Given the description of an element on the screen output the (x, y) to click on. 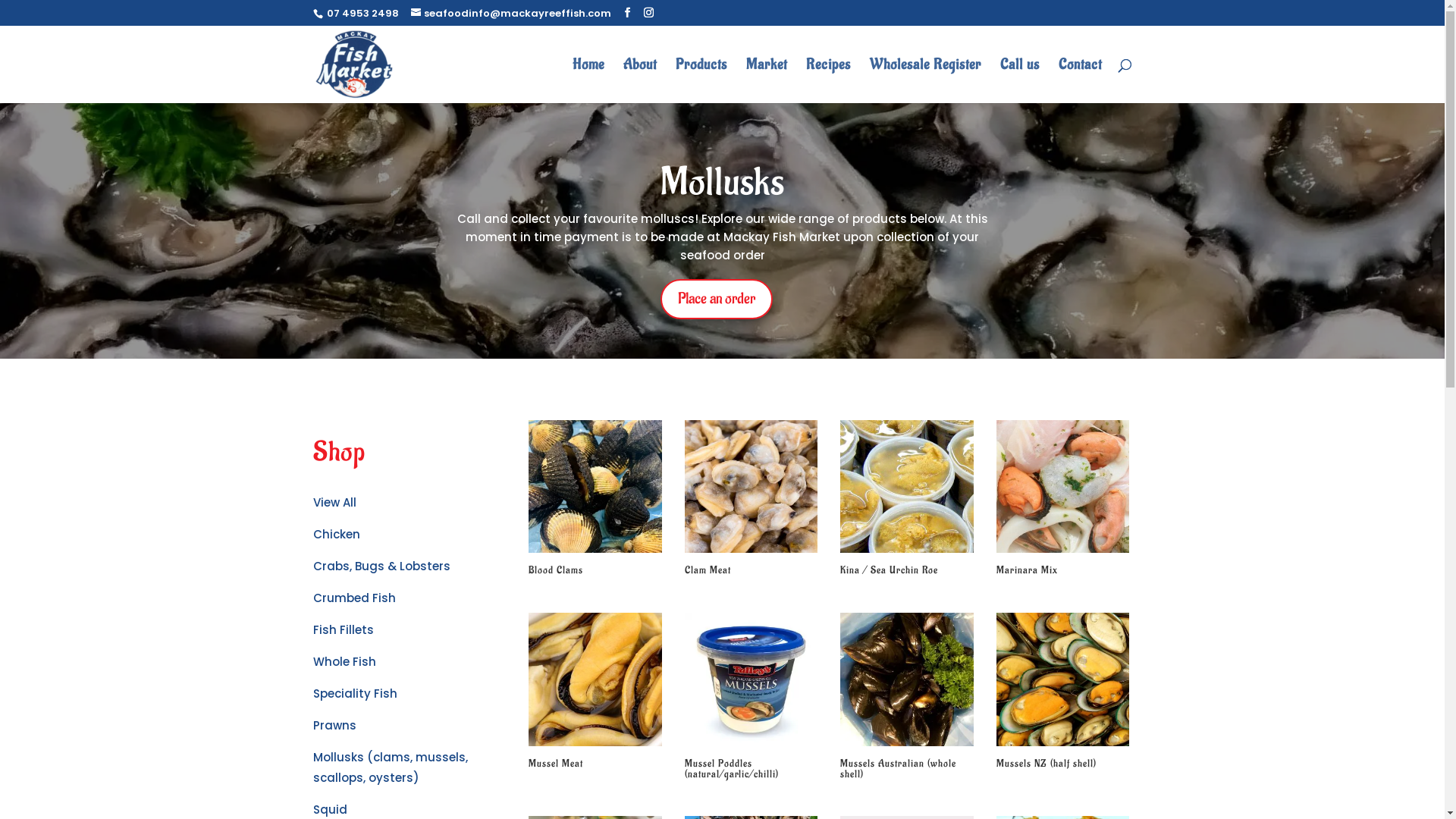
seafoodinfo@mackayreeffish.com Element type: text (511, 13)
Whole Fish Element type: text (343, 661)
Mollusks (clams, mussels, scallops, oysters) Element type: text (389, 767)
Mussels NZ (half shell) Element type: text (1062, 692)
Mussel Poddles (natural/garlic/chilli) Element type: text (750, 698)
Chicken Element type: text (335, 534)
Place an order Element type: text (716, 298)
Recipes Element type: text (827, 81)
Marinara Mix Element type: text (1062, 500)
About Element type: text (639, 81)
Squid Element type: text (329, 809)
Market Element type: text (766, 81)
Contact Element type: text (1079, 81)
View All Element type: text (333, 502)
Wholesale Register Element type: text (924, 81)
Crumbed Fish Element type: text (353, 597)
Products Element type: text (700, 81)
Kina / Sea Urchin Roe Element type: text (906, 500)
Prawns Element type: text (333, 725)
Crabs, Bugs & Lobsters Element type: text (380, 566)
Fish Fillets Element type: text (342, 629)
Home Element type: text (587, 81)
Clam Meat Element type: text (750, 500)
Mussel Meat Element type: text (594, 692)
Speciality Fish Element type: text (354, 693)
Blood Clams Element type: text (594, 500)
Call us Element type: text (1018, 81)
Mussels Australian (whole shell) Element type: text (906, 698)
